Given the description of an element on the screen output the (x, y) to click on. 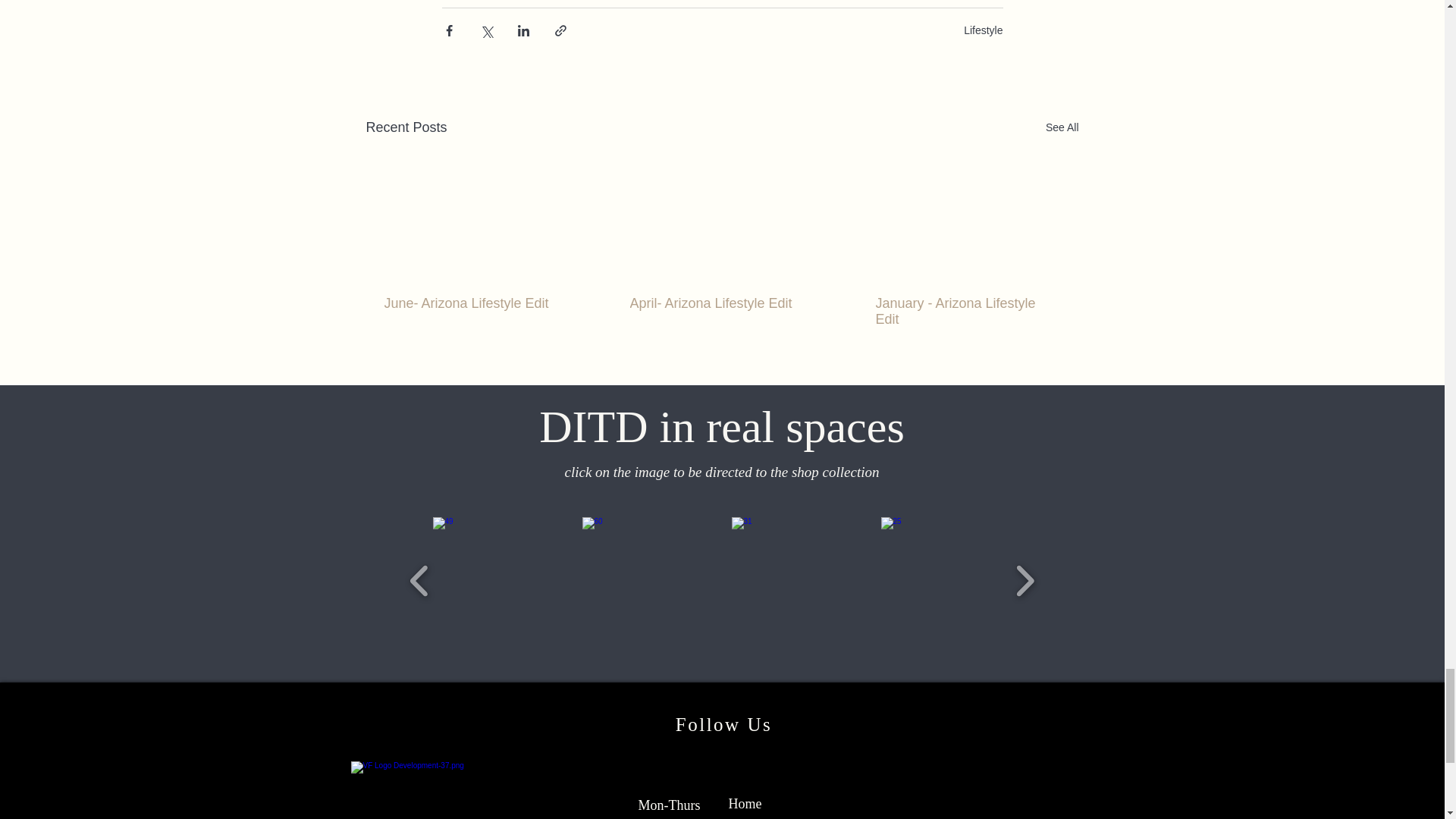
Lifestyle (983, 30)
See All (1061, 127)
January - Arizona Lifestyle Edit (966, 311)
April- Arizona Lifestyle Edit (720, 303)
June- Arizona Lifestyle Edit (475, 303)
